Given the description of an element on the screen output the (x, y) to click on. 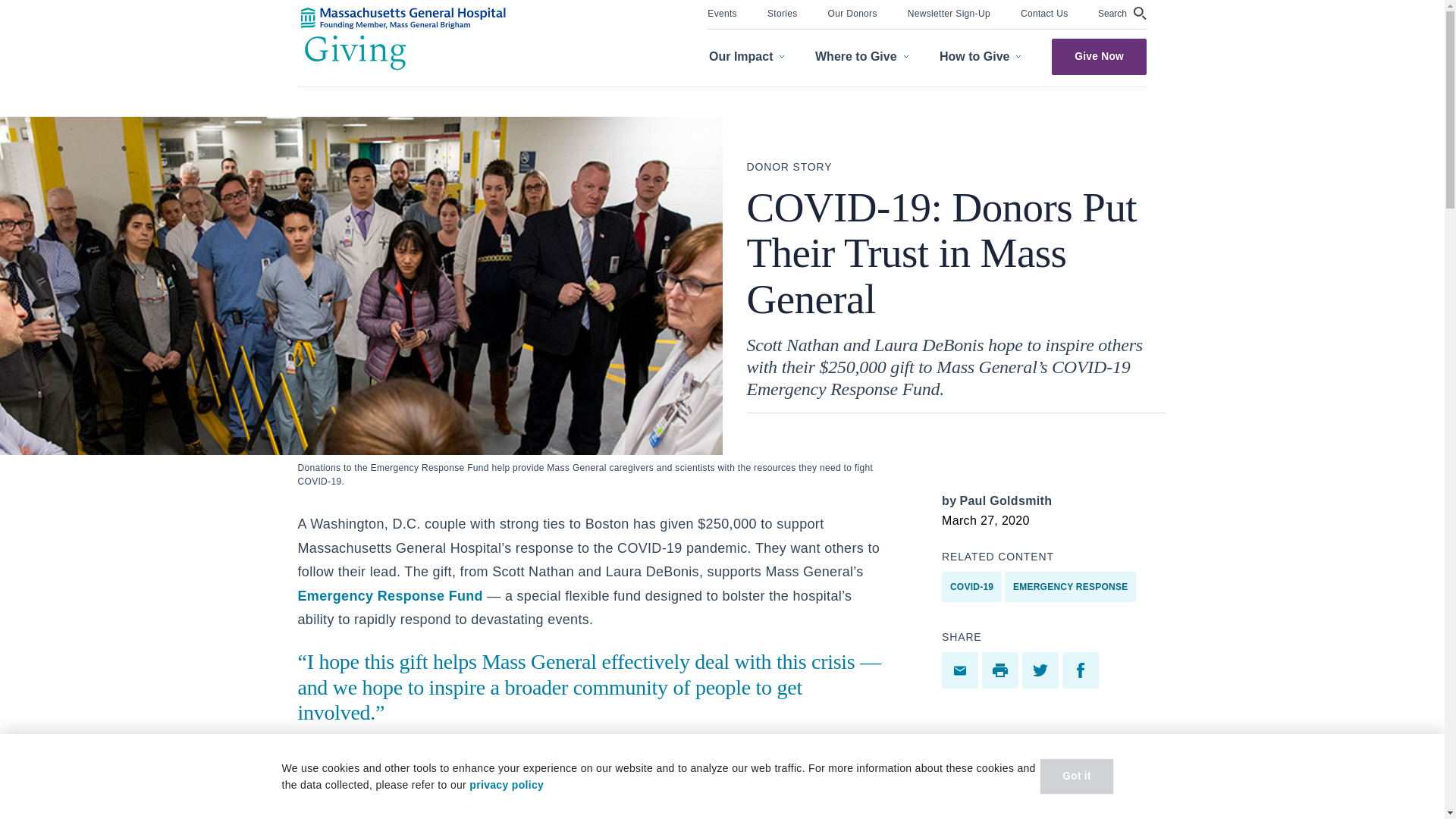
Stories (782, 11)
How to Give (980, 56)
Contact Us (1044, 11)
COVID-19 (971, 586)
Give Now (1099, 56)
EMERGENCY RESPONSE (1069, 586)
Emergency Response Fund (389, 595)
Our Donors (852, 11)
Search (1122, 12)
Newsletter Sign-Up (948, 11)
Where to Give (861, 56)
Events (721, 11)
Our Impact (746, 56)
